Given the description of an element on the screen output the (x, y) to click on. 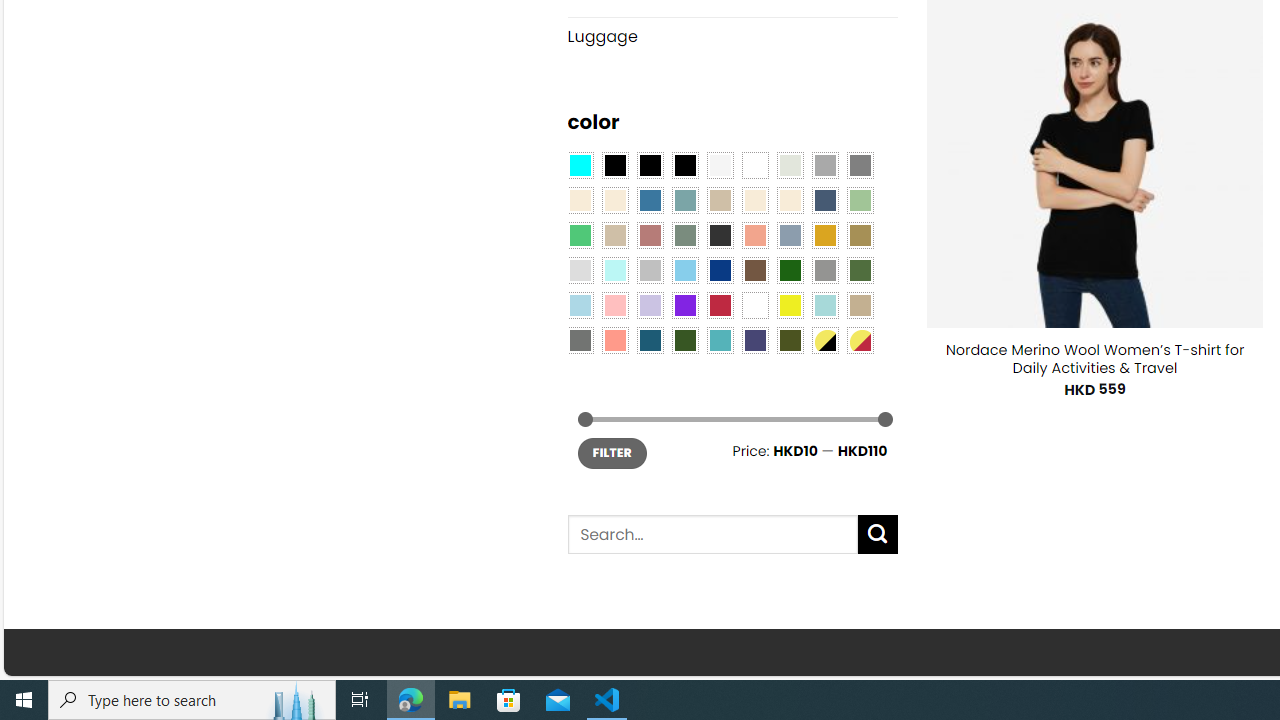
Charcoal (719, 234)
Light Green (859, 200)
Luggage (732, 37)
Yellow-Black (824, 339)
Ash Gray (789, 164)
Clear (755, 164)
Submit (877, 533)
Beige (579, 200)
Dark Gray (824, 164)
Silver (650, 269)
Luggage (732, 36)
Aqua (824, 305)
Blue (650, 200)
Pink (614, 305)
Khaki (859, 305)
